Given the description of an element on the screen output the (x, y) to click on. 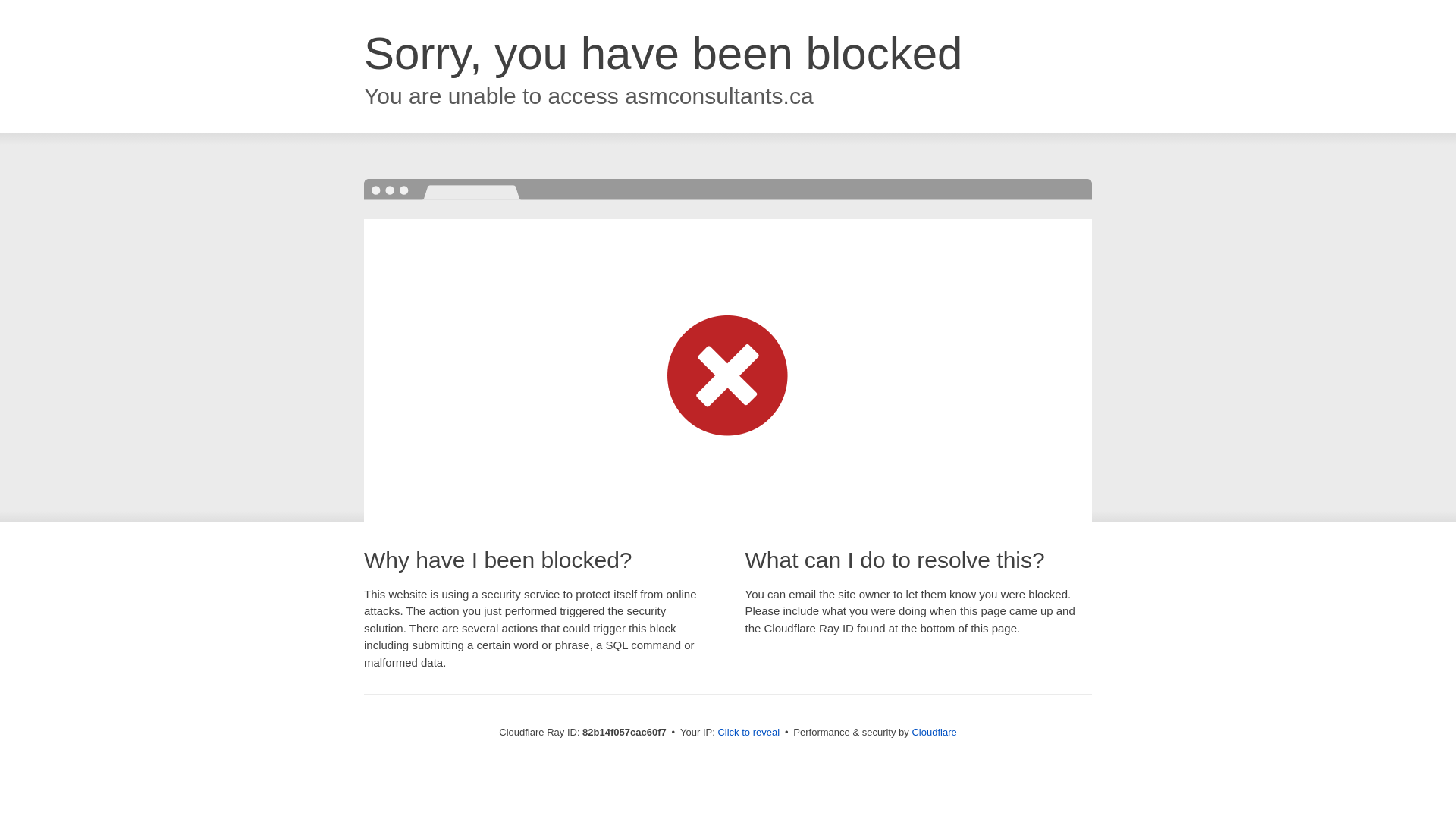
Cloudflare Element type: text (933, 731)
Click to reveal Element type: text (748, 732)
